Given the description of an element on the screen output the (x, y) to click on. 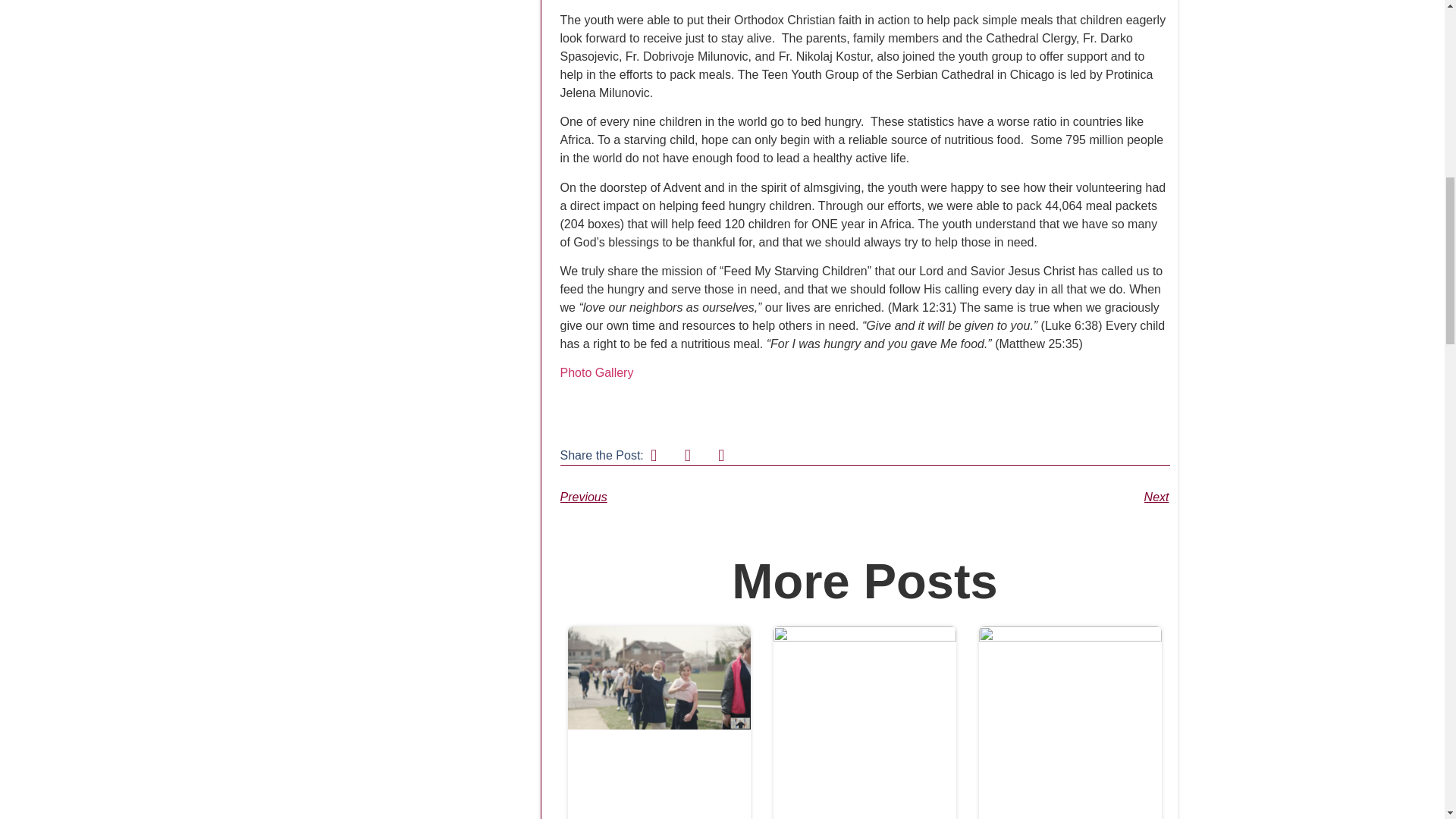
Previous (711, 497)
Next (1016, 497)
Photo Gallery (596, 372)
